Given the description of an element on the screen output the (x, y) to click on. 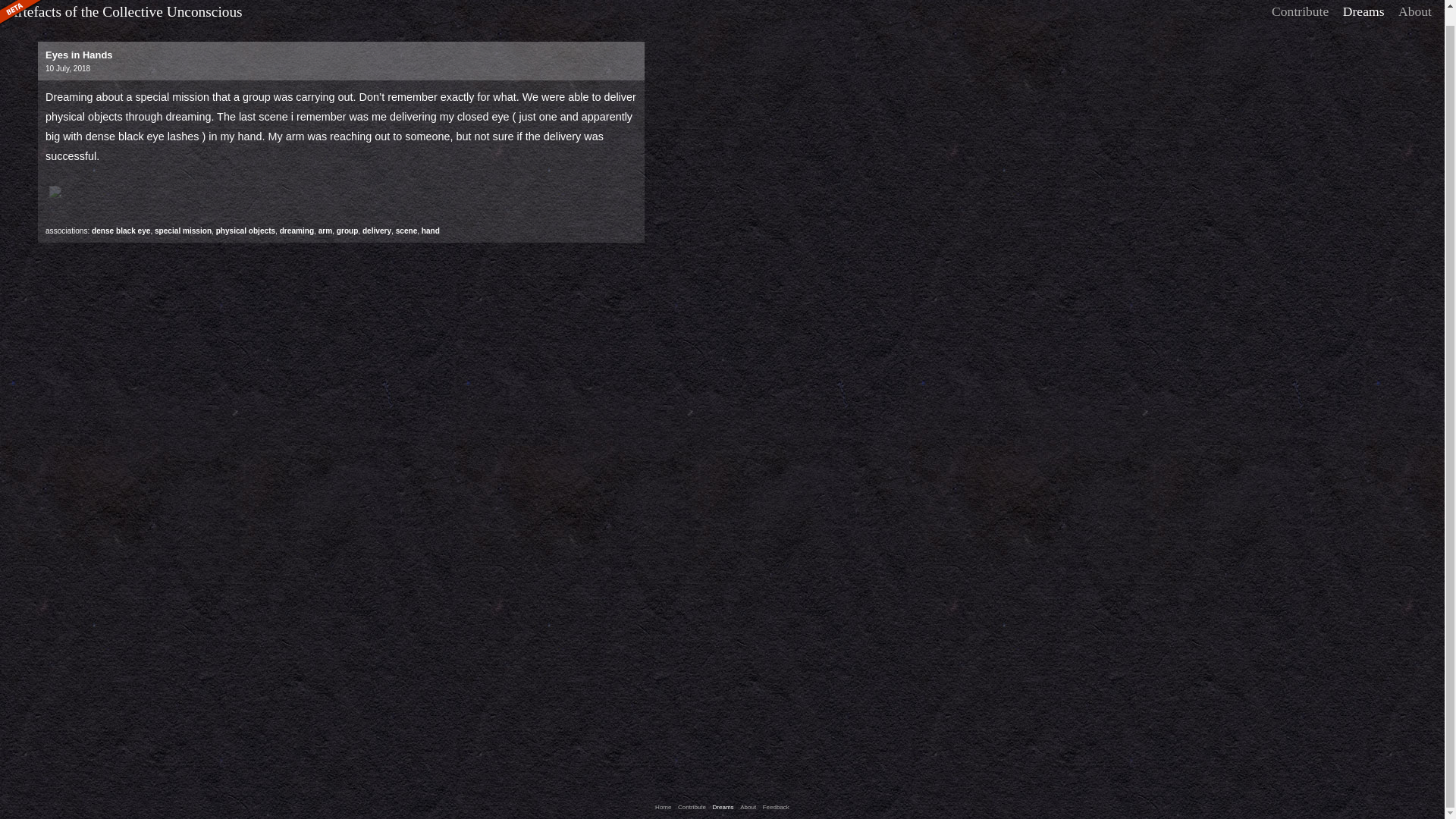
arm (325, 230)
Feedback (776, 807)
dense black eye (120, 230)
About (1415, 2)
Contribute (691, 807)
delivery (376, 230)
hand (430, 230)
scene (406, 230)
physical objects (245, 230)
group (347, 230)
